Given the description of an element on the screen output the (x, y) to click on. 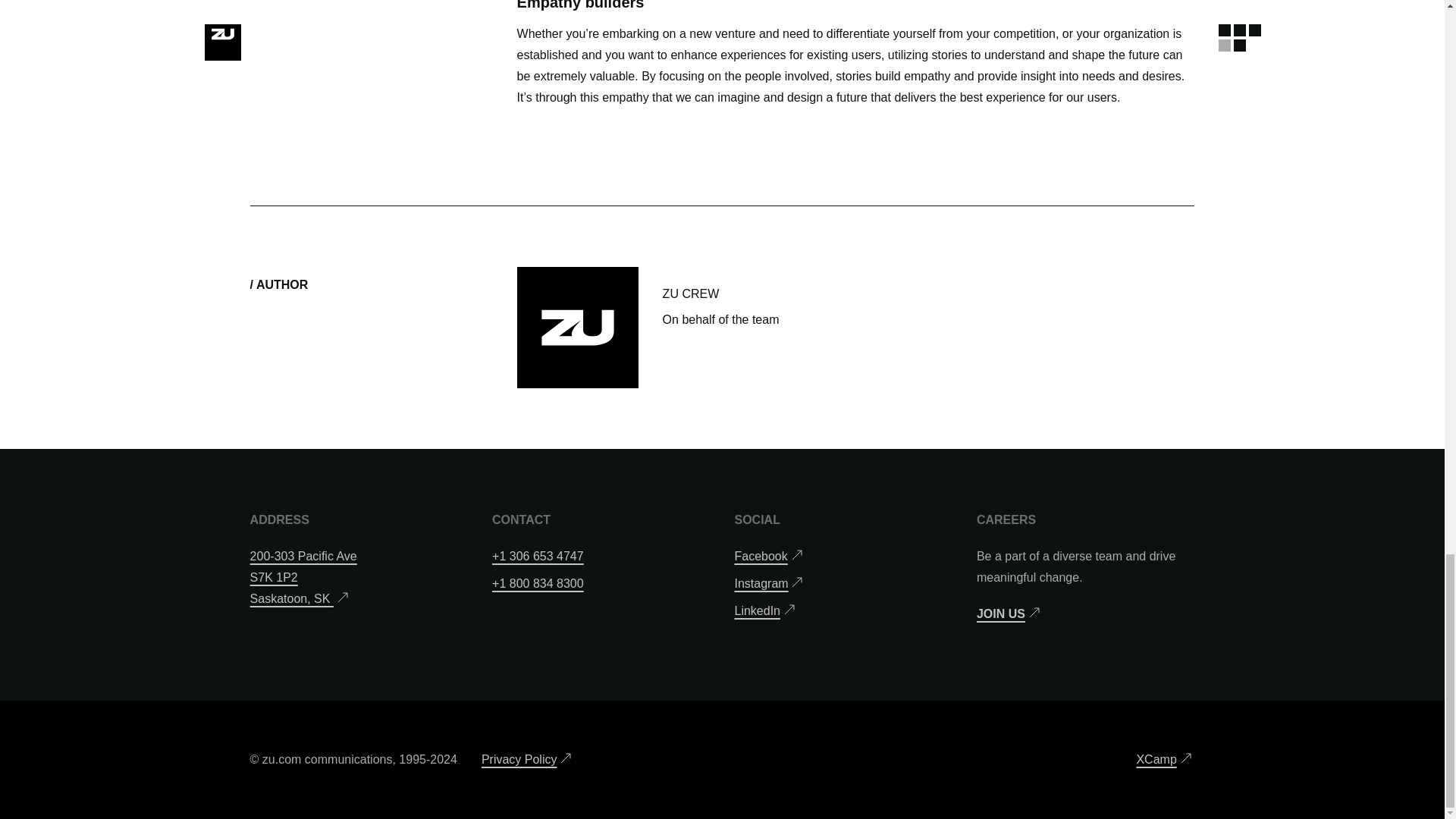
XCamp (1164, 759)
JOIN US (303, 577)
Facebook (1009, 613)
Privacy Policy (769, 556)
Instagram (528, 759)
LinkedIn (769, 583)
